Given the description of an element on the screen output the (x, y) to click on. 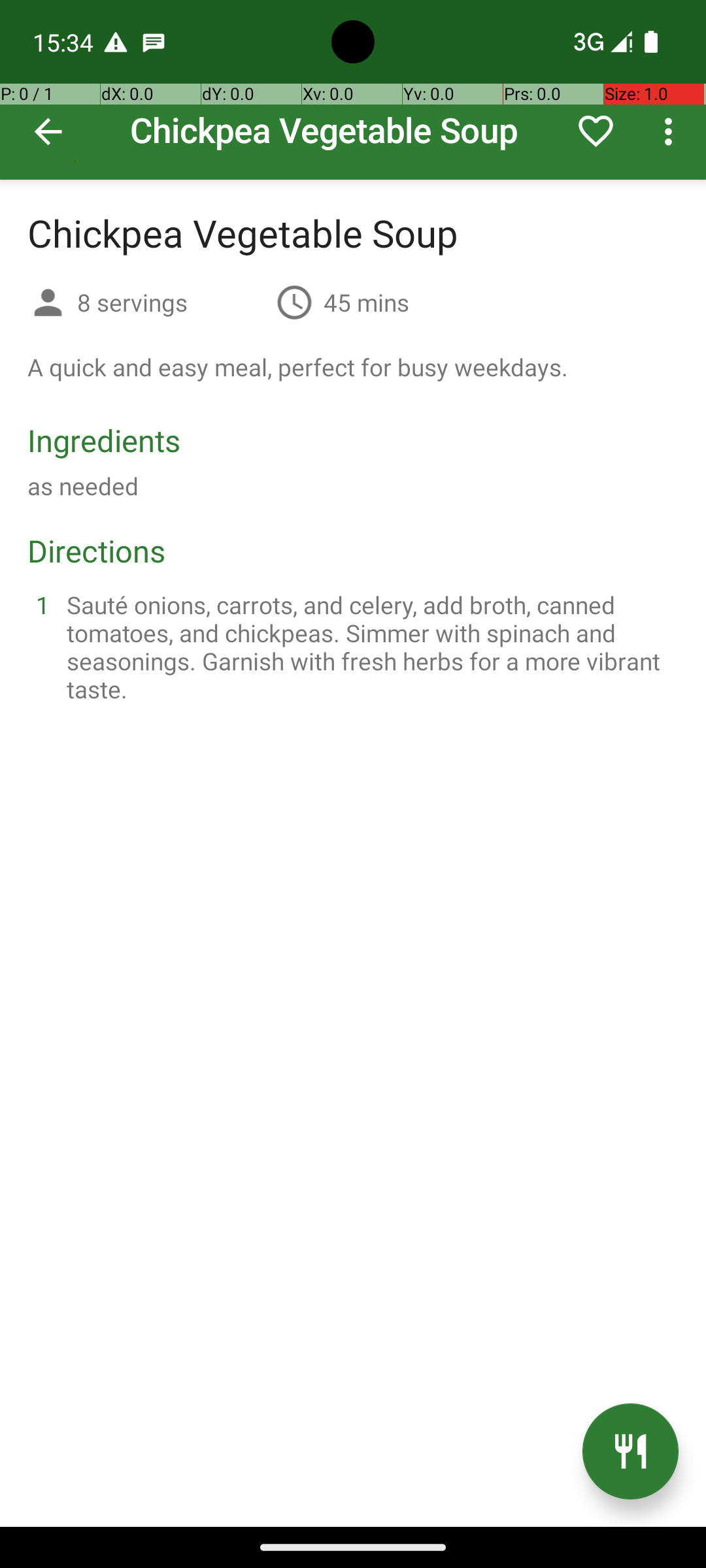
Chickpea Vegetable Soup Element type: android.widget.FrameLayout (353, 89)
45 mins Element type: android.widget.TextView (366, 301)
as needed Element type: android.widget.TextView (82, 485)
Sauté onions, carrots, and celery, add broth, canned tomatoes, and chickpeas. Simmer with spinach and seasonings. Garnish with fresh herbs for a more vibrant taste. Element type: android.widget.TextView (368, 646)
